Given the description of an element on the screen output the (x, y) to click on. 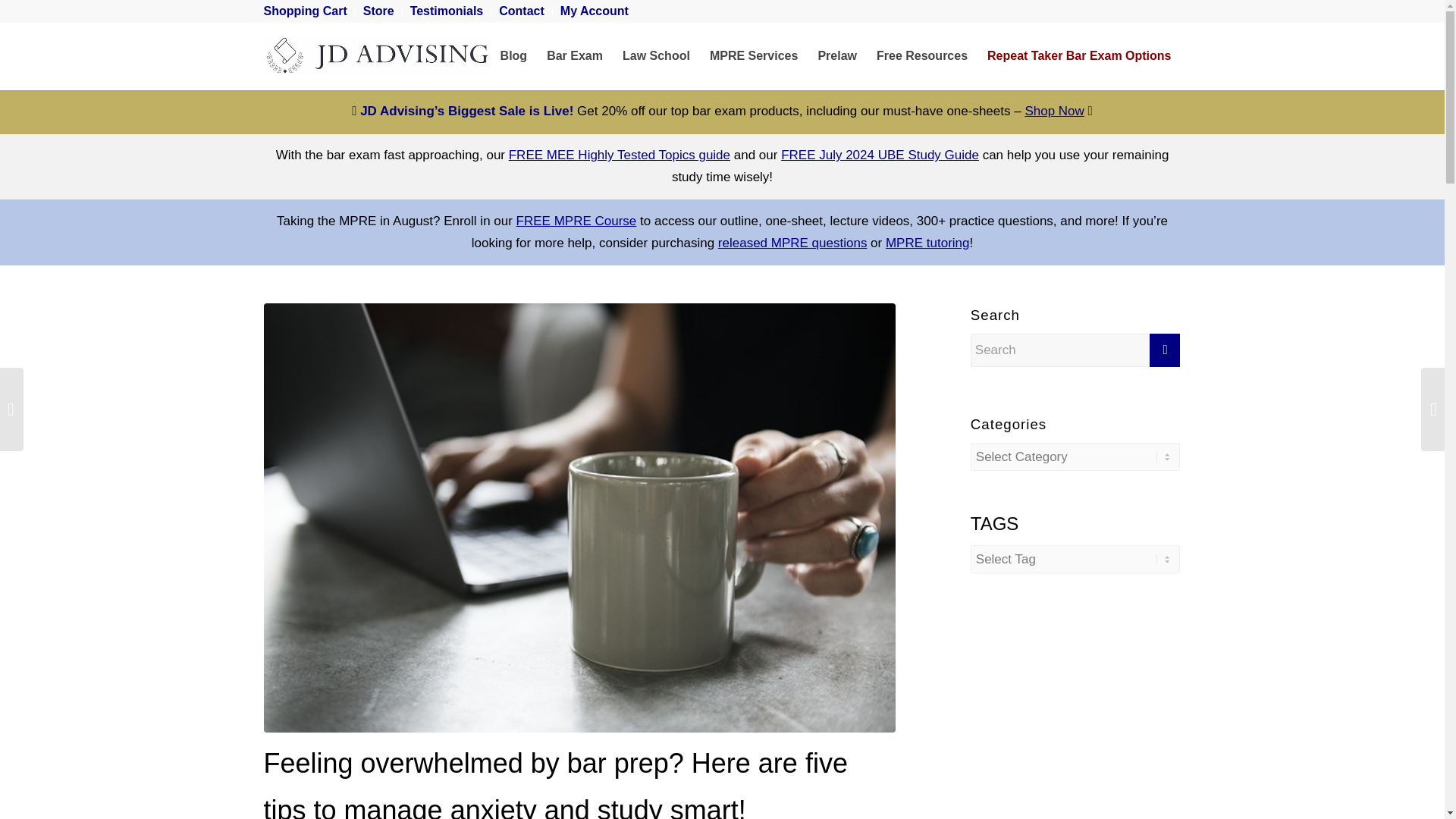
Click to start search (1164, 349)
Store (378, 11)
Shopping Cart (305, 11)
Testimonials (446, 11)
Bar Exam (574, 56)
My Account (594, 11)
Contact (521, 11)
